Given the description of an element on the screen output the (x, y) to click on. 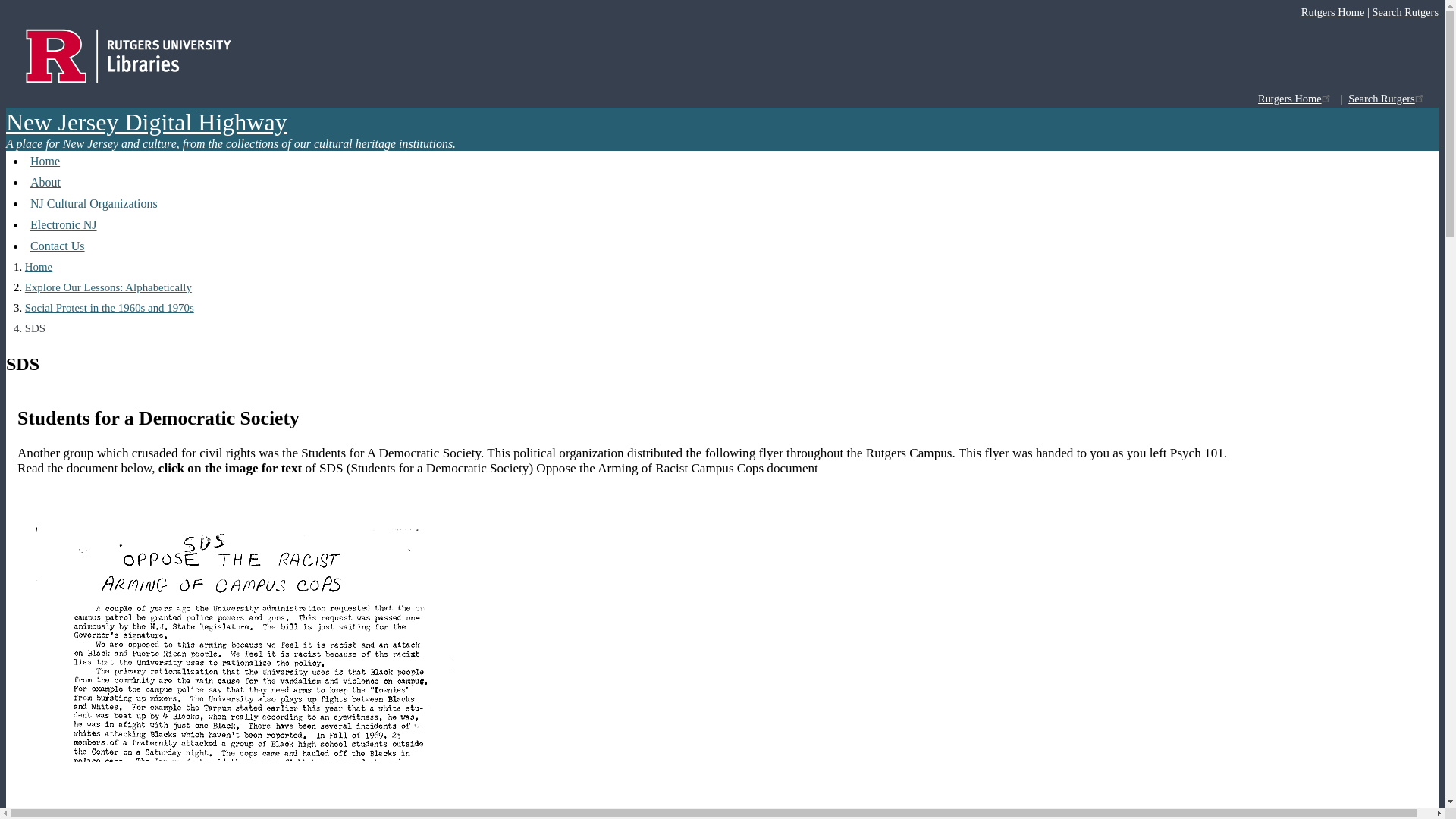
Rutgers Home (1333, 11)
Home (38, 266)
Search Rutgers (1404, 11)
Contact Us (57, 245)
Social Protest in the 1960s and 1970s (108, 307)
Explore Our Lessons: Alphabetically (108, 287)
New Jersey Digital Highway (145, 121)
Home (145, 121)
NJ Cultural Organizations (93, 203)
Home (44, 160)
About (45, 182)
Electronic NJ (63, 224)
